Given the description of an element on the screen output the (x, y) to click on. 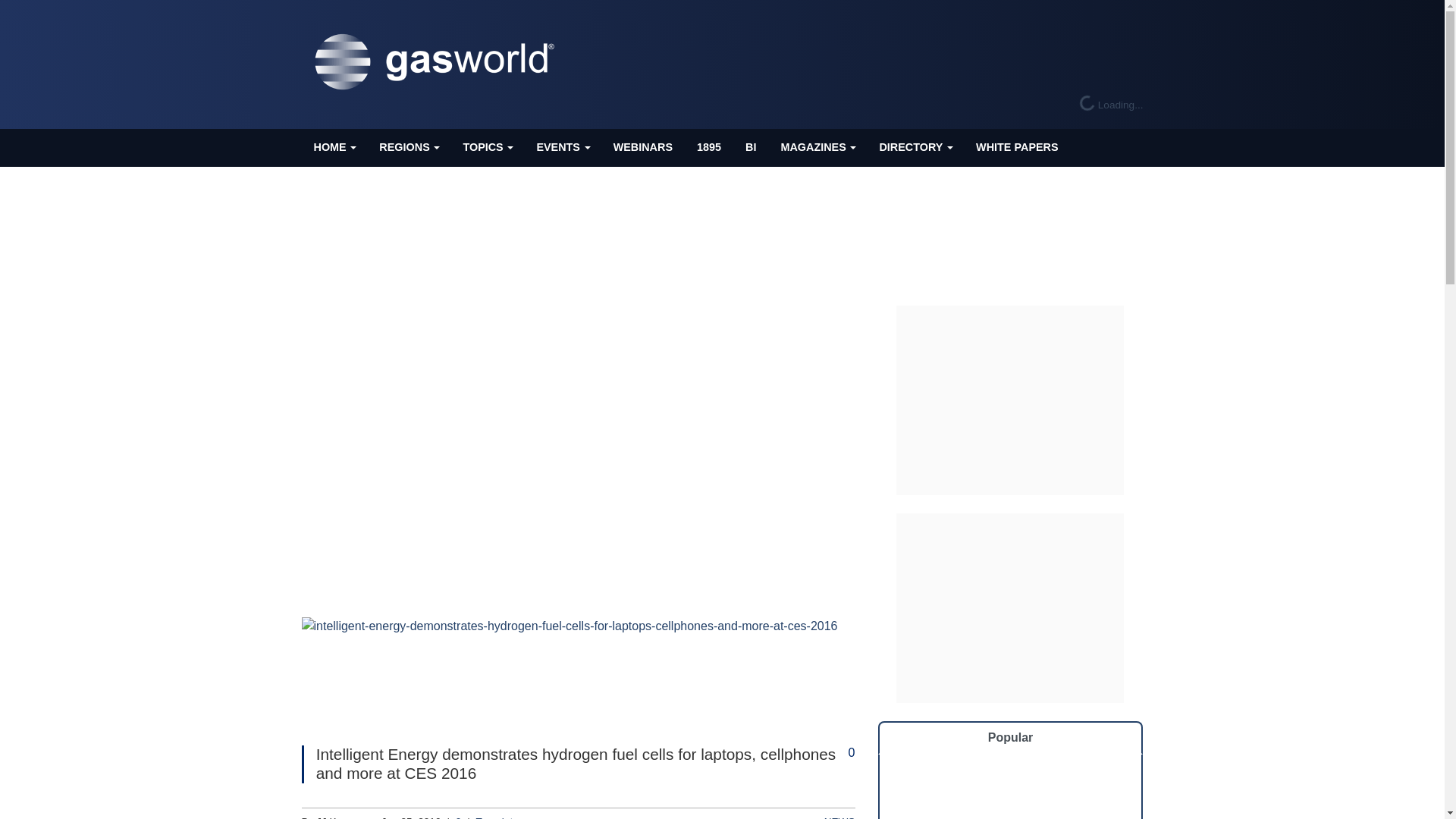
HOME (334, 146)
REGIONS (407, 146)
Regions (407, 146)
gasworld (438, 62)
TOPICS (486, 146)
Topics (486, 146)
Home (334, 146)
